Given the description of an element on the screen output the (x, y) to click on. 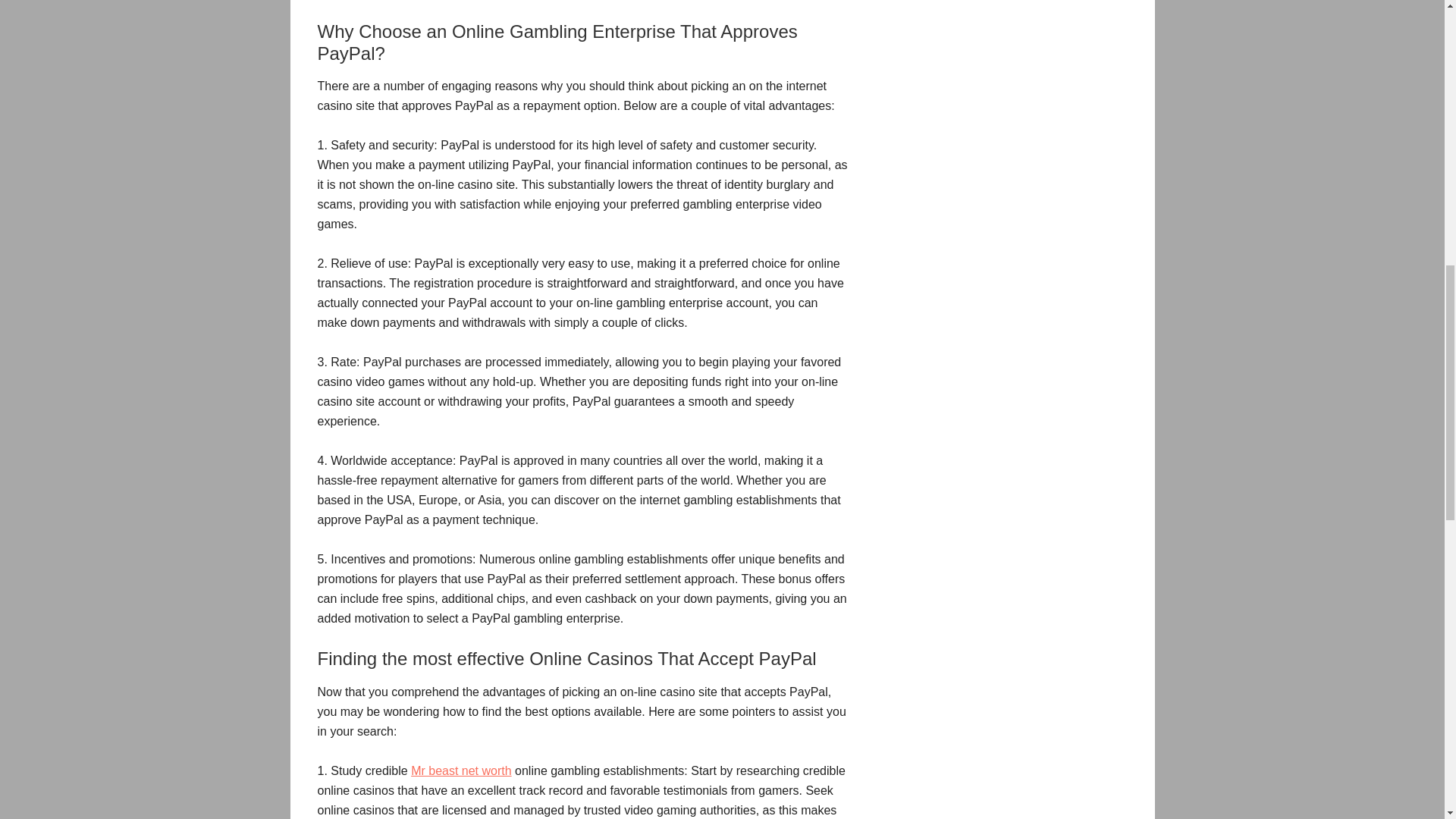
Mr beast net worth (461, 770)
